Given the description of an element on the screen output the (x, y) to click on. 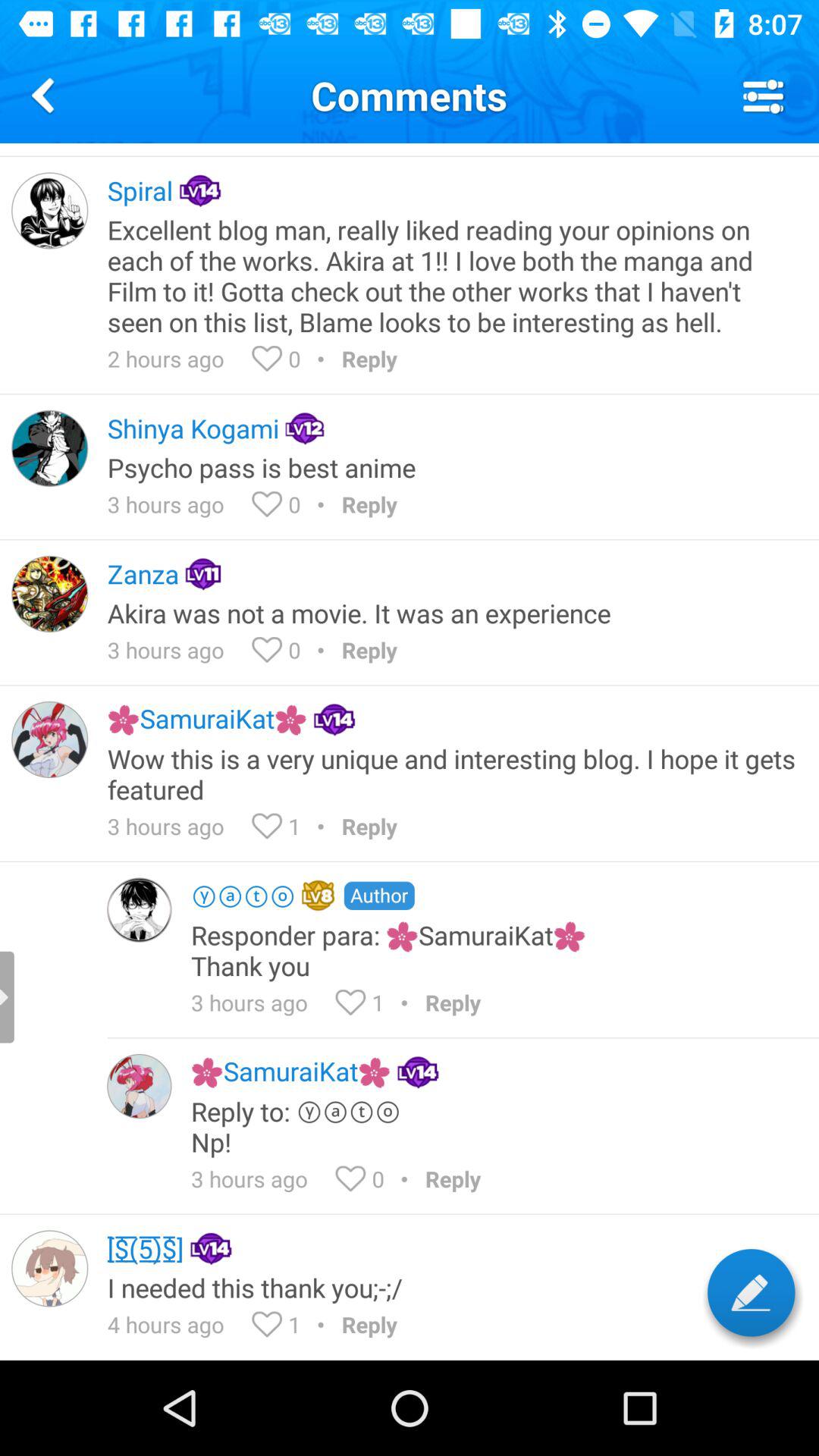
scroll until akira was not item (453, 612)
